Given the description of an element on the screen output the (x, y) to click on. 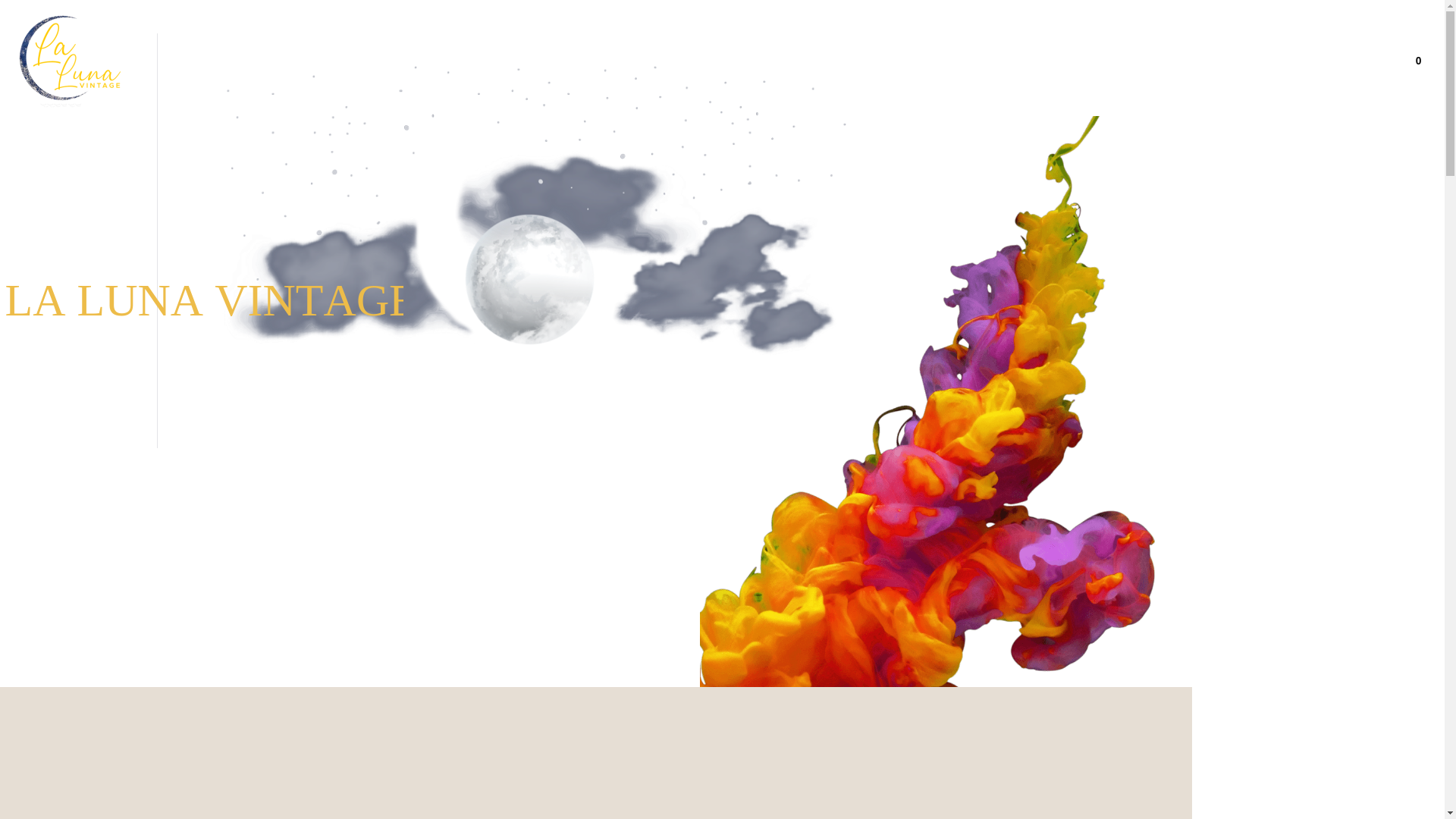
About Us (1174, 61)
Contact us (1354, 61)
Shop (1233, 61)
0 (1418, 60)
View your shopping cart (1418, 60)
Gallery (1287, 61)
Home (1113, 61)
